Given the description of an element on the screen output the (x, y) to click on. 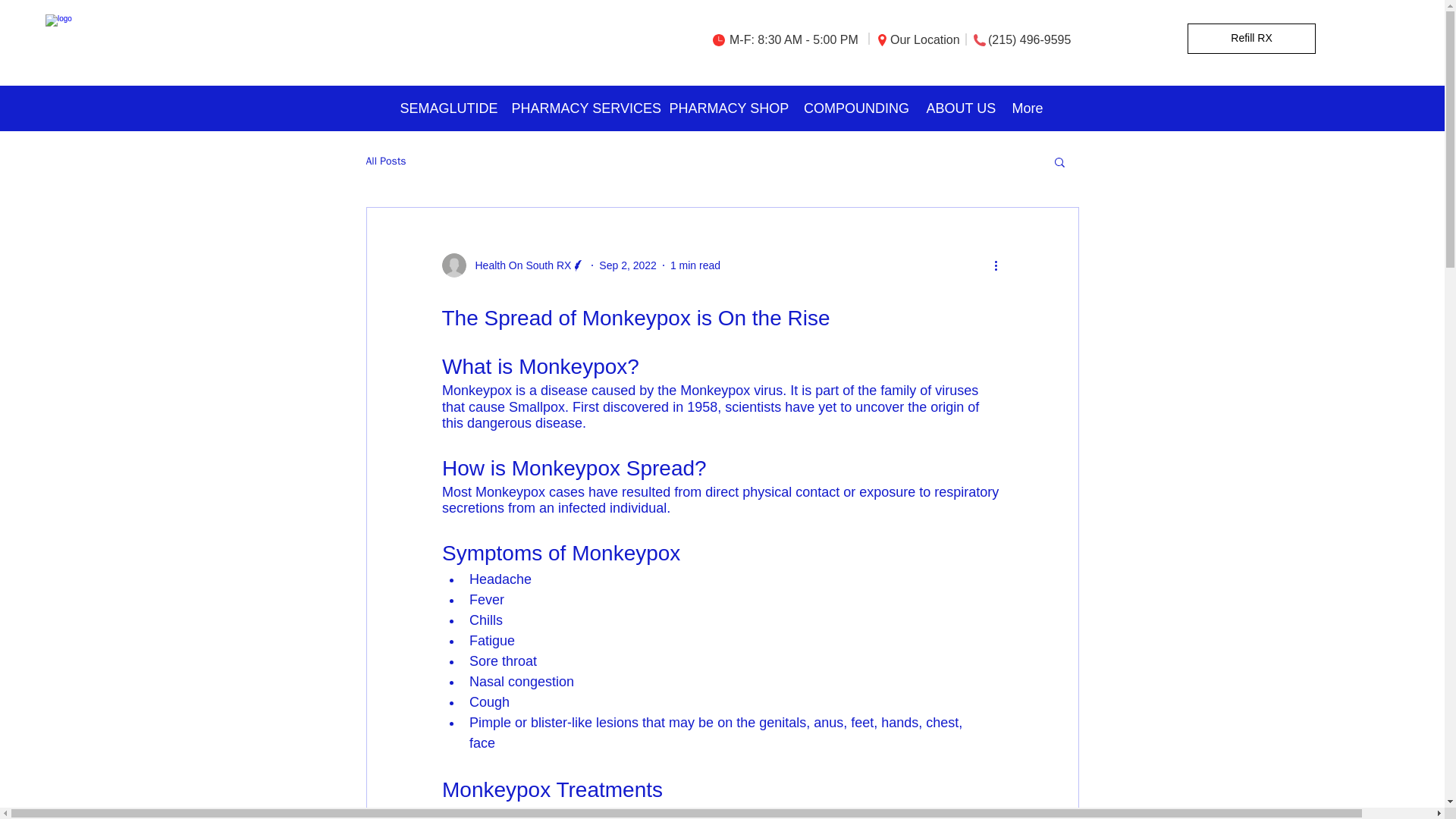
Health On South RX (517, 265)
ABOUT US (960, 108)
1 min read (694, 265)
Sep 2, 2022 (627, 265)
Our Location (924, 39)
Health On South RX (513, 265)
SEMAGLUTIDE (448, 108)
All Posts (385, 161)
COMPOUNDING (856, 108)
PHARMACY SERVICES (582, 108)
PHARMACY SHOP (727, 108)
Refill RX (1252, 38)
